Given the description of an element on the screen output the (x, y) to click on. 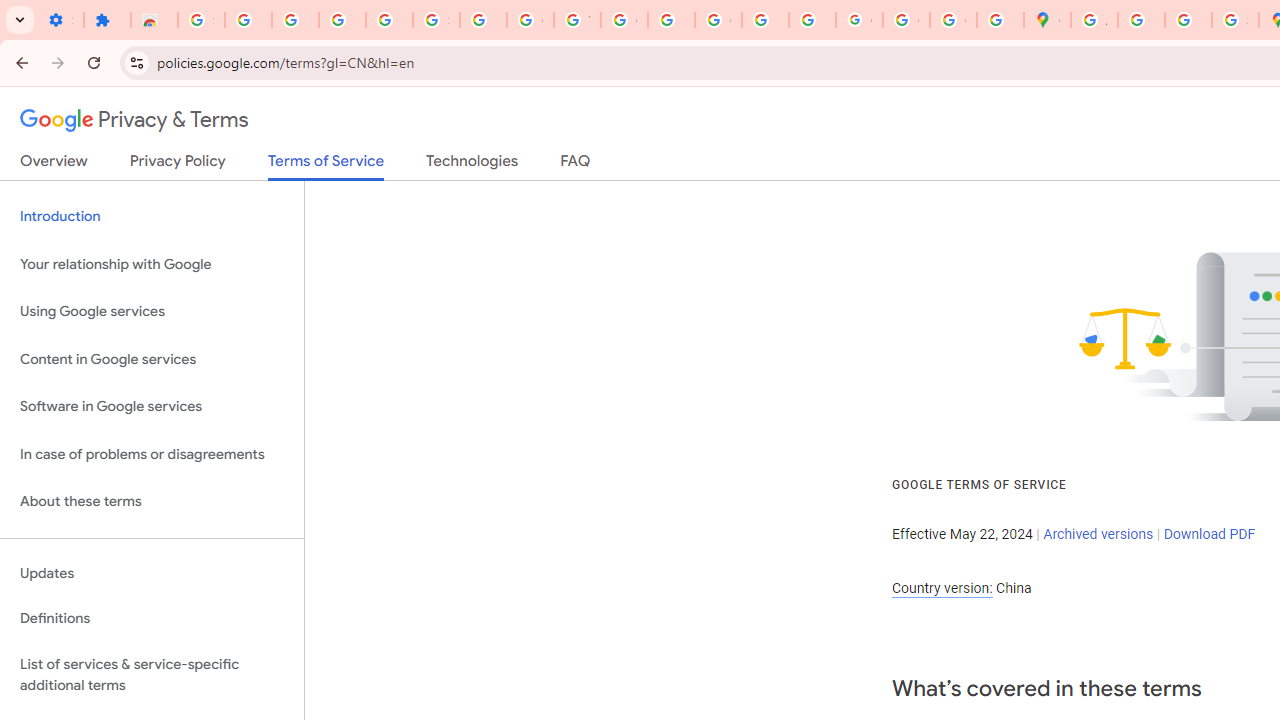
About these terms (152, 502)
Sign in - Google Accounts (201, 20)
